Given the description of an element on the screen output the (x, y) to click on. 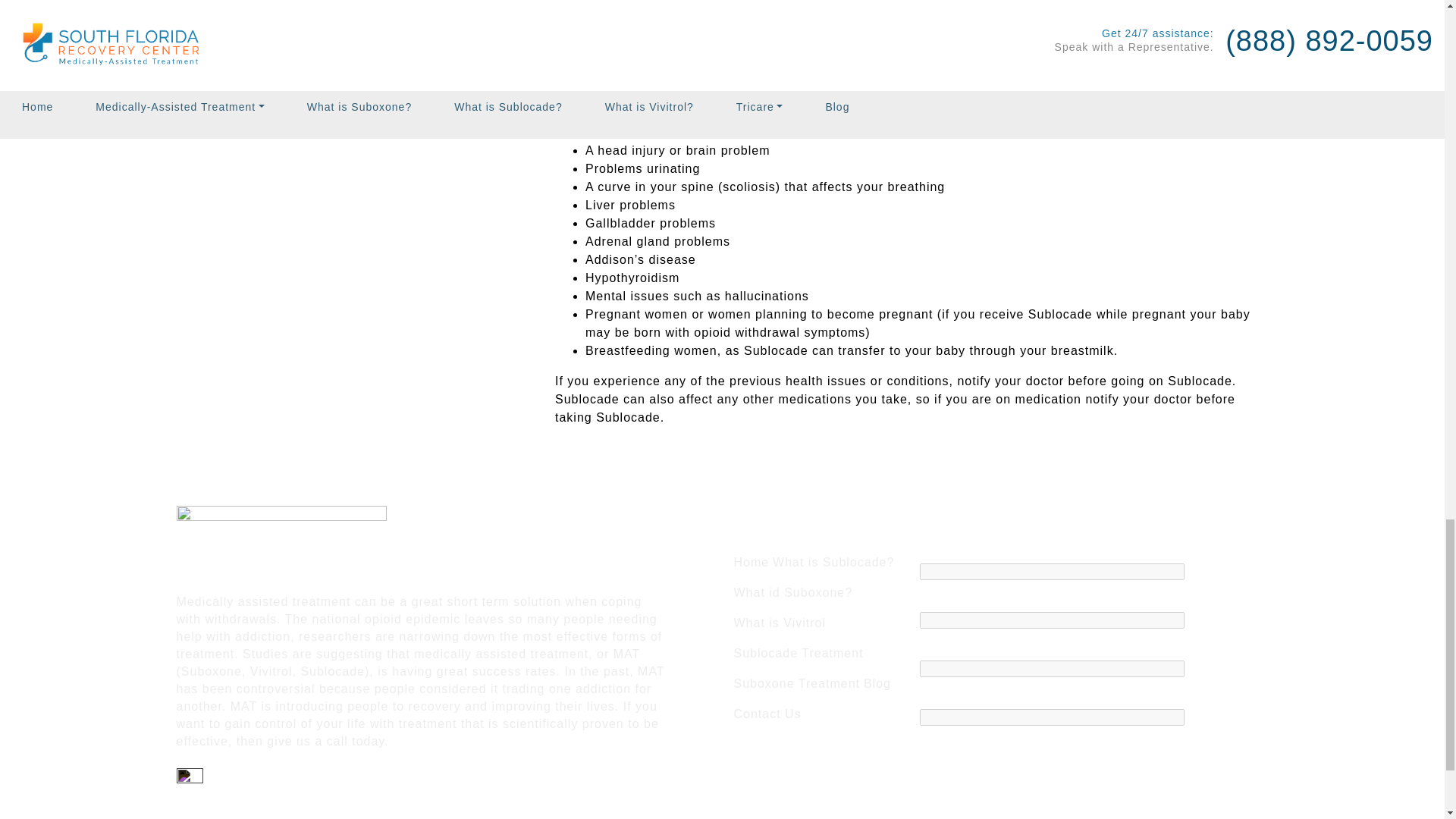
Home (751, 562)
What is Sublocade? (833, 562)
